Given the description of an element on the screen output the (x, y) to click on. 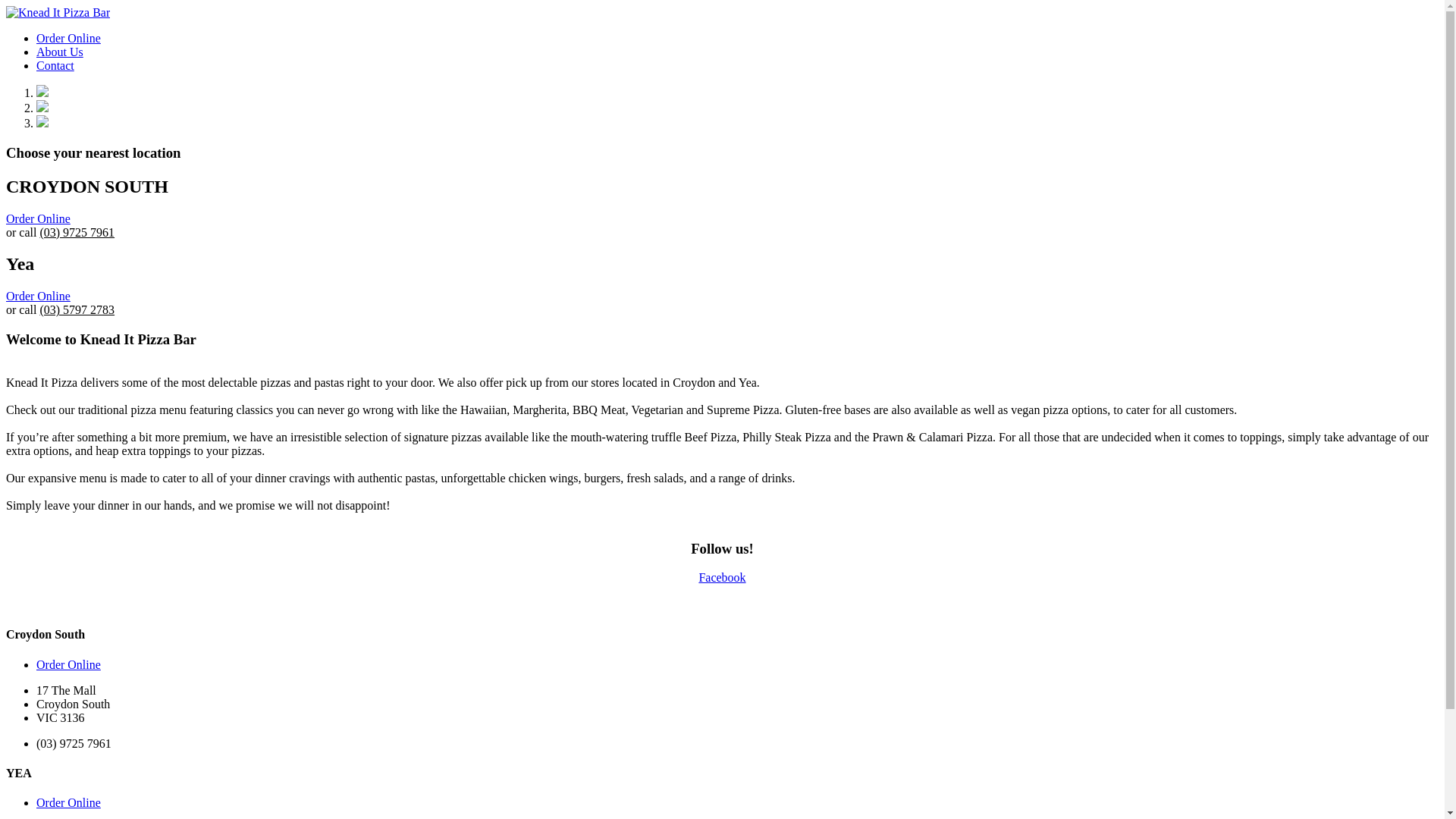
Order Online Element type: text (38, 295)
Facebook Element type: text (721, 577)
About Us Element type: text (737, 52)
Order Online Element type: text (68, 802)
(03) 9725 7961 Element type: text (76, 231)
(03) 5797 2783 Element type: text (76, 309)
Contact Element type: text (55, 65)
Order Online Element type: text (38, 218)
Order Online Element type: text (68, 37)
Order Online Element type: text (737, 38)
Order Online Element type: text (68, 664)
About Us Element type: text (59, 51)
Contact Element type: text (737, 65)
